Given the description of an element on the screen output the (x, y) to click on. 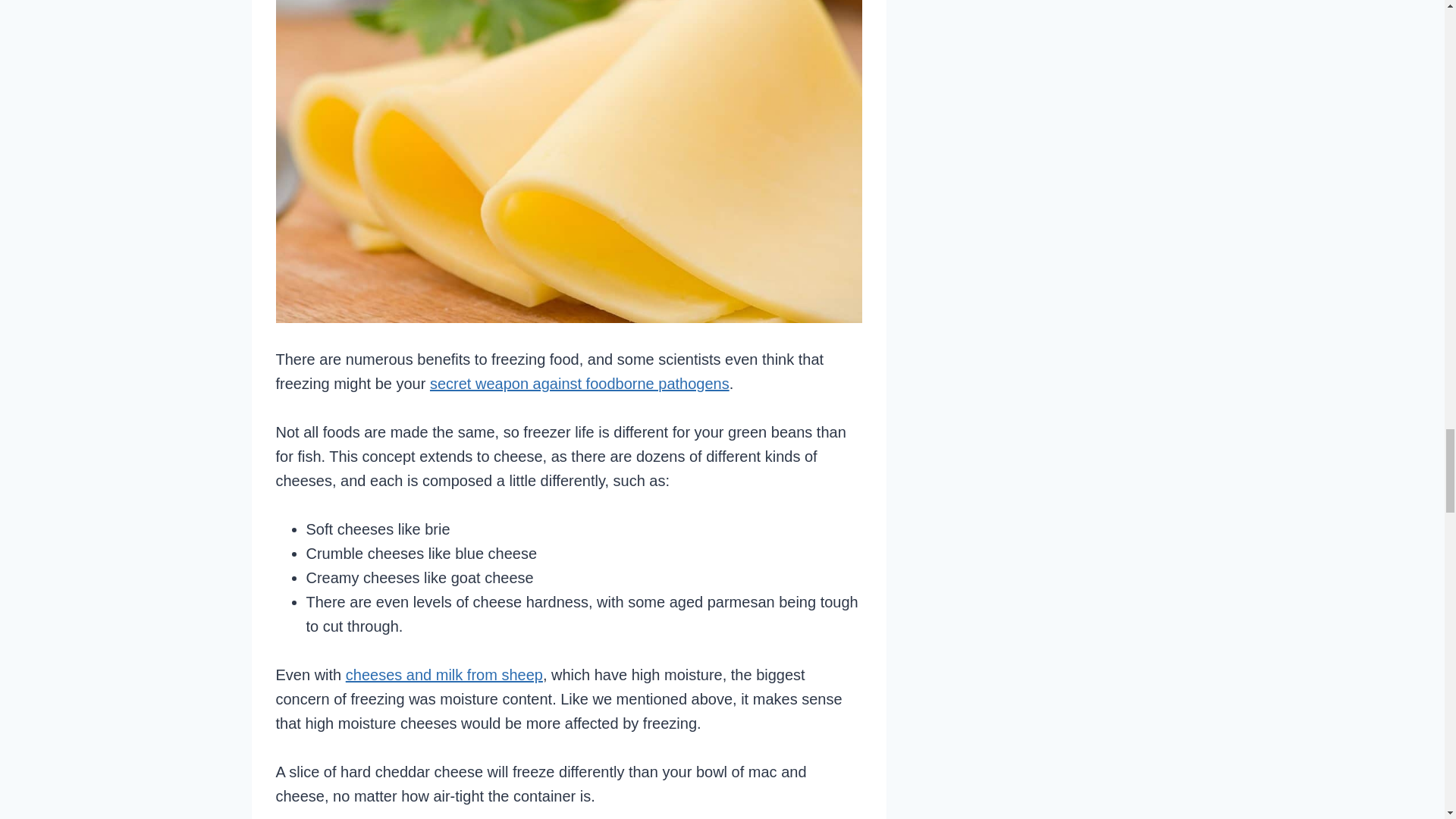
secret weapon against foodborne pathogens (579, 383)
cheeses and milk from sheep (444, 674)
